Given the description of an element on the screen output the (x, y) to click on. 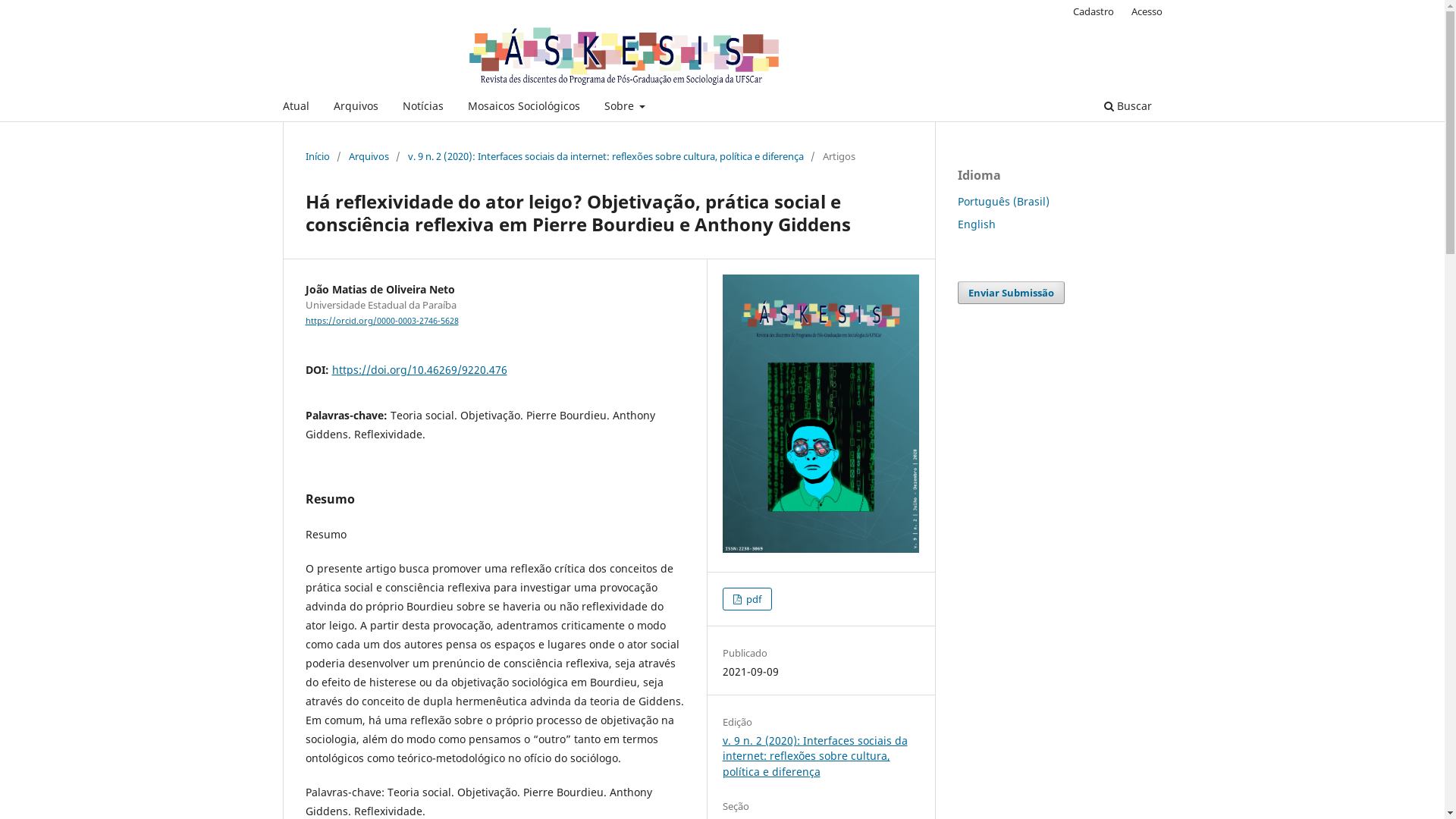
Arquivos Element type: text (368, 155)
Acesso Element type: text (1146, 11)
https://orcid.org/0000-0003-2746-5628 Element type: text (381, 320)
Buscar Element type: text (1127, 107)
Cadastro Element type: text (1093, 11)
Sobre Element type: text (625, 107)
Atual Element type: text (295, 107)
https://doi.org/10.46269/9220.476 Element type: text (419, 369)
Arquivos Element type: text (354, 107)
pdf Element type: text (746, 598)
English Element type: text (975, 223)
